Given the description of an element on the screen output the (x, y) to click on. 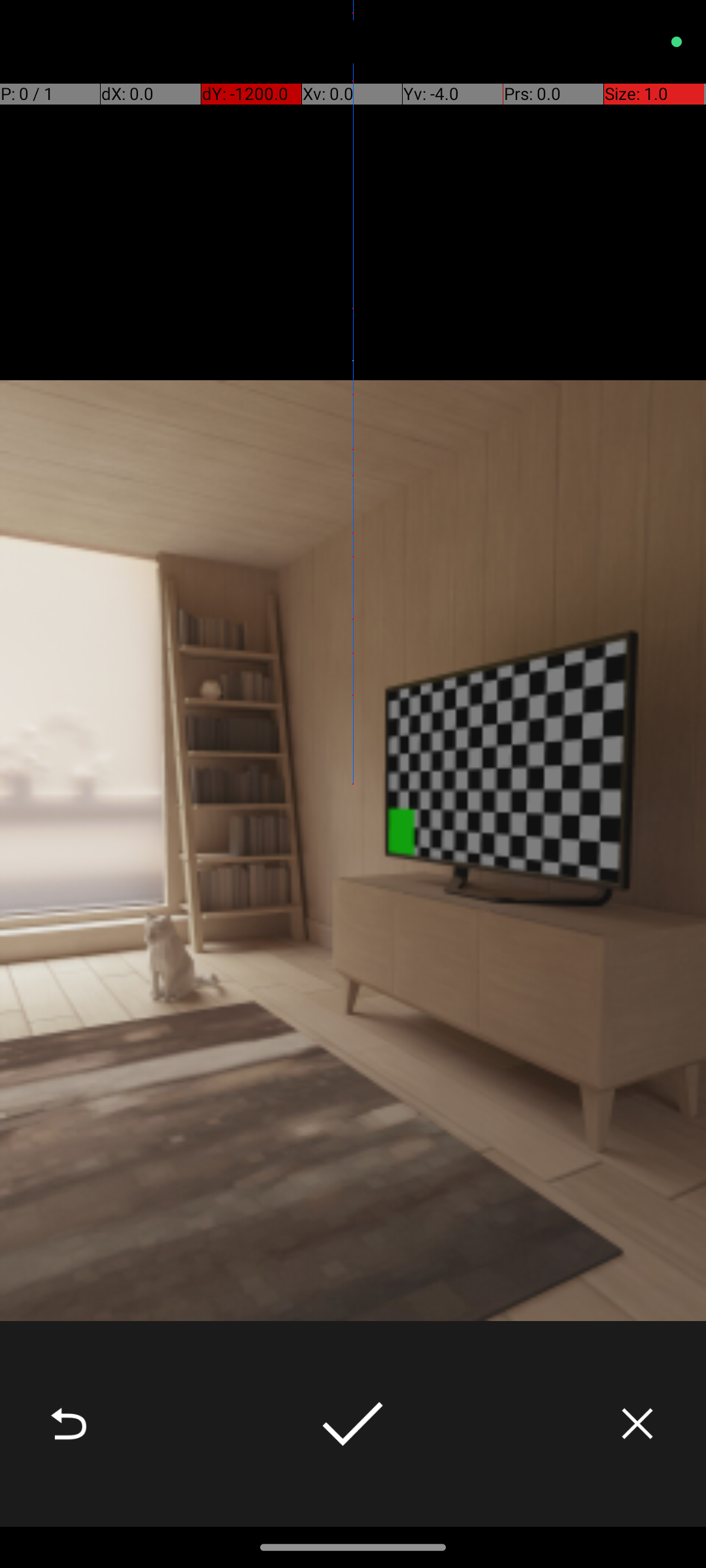
Retake Element type: android.widget.ImageButton (68, 1423)
